Given the description of an element on the screen output the (x, y) to click on. 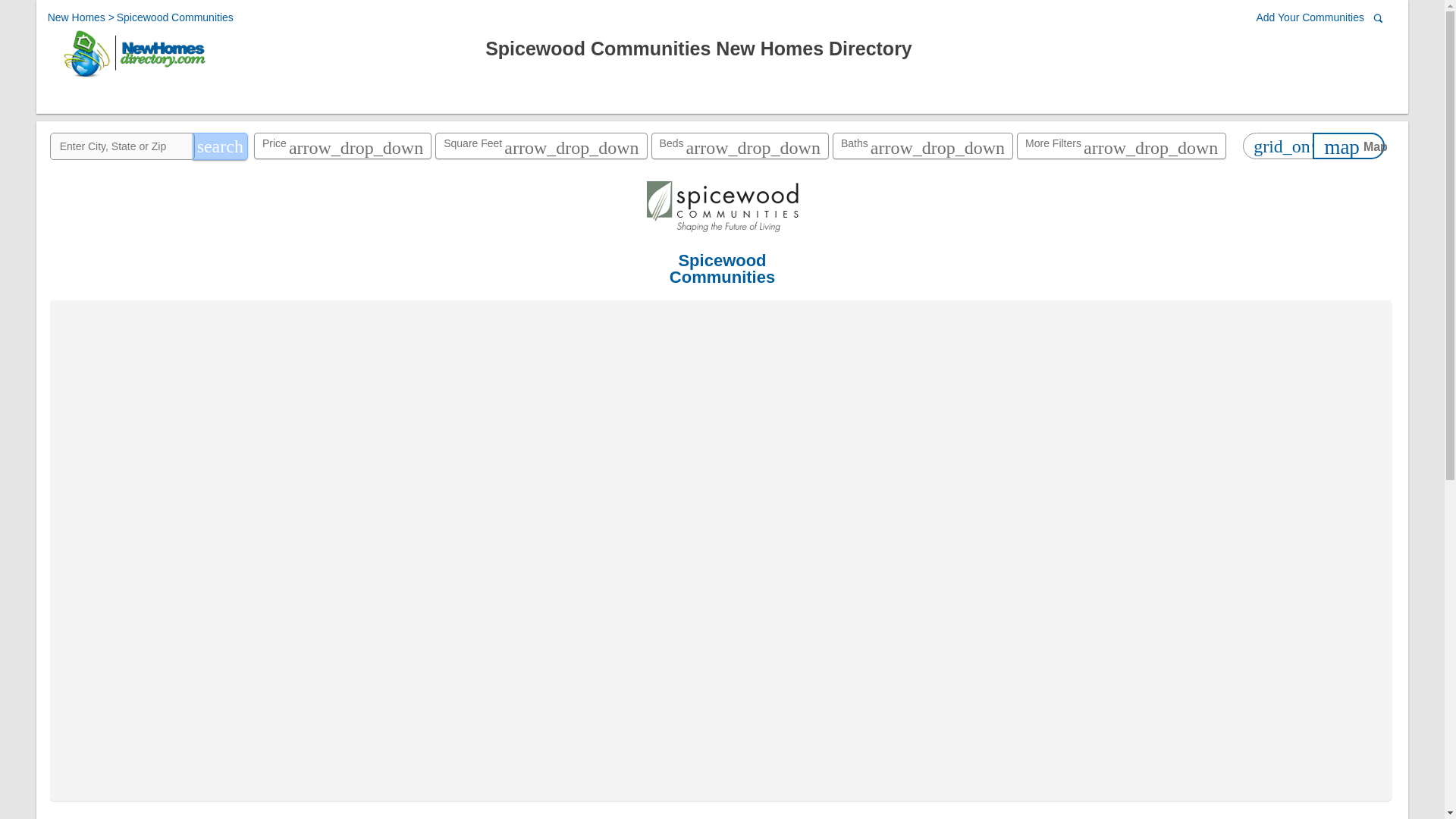
Spicewood Communities (174, 17)
Add Your Communities (1313, 18)
search (219, 145)
New Homes (77, 17)
New Homes Directory Home Page (133, 76)
